Given the description of an element on the screen output the (x, y) to click on. 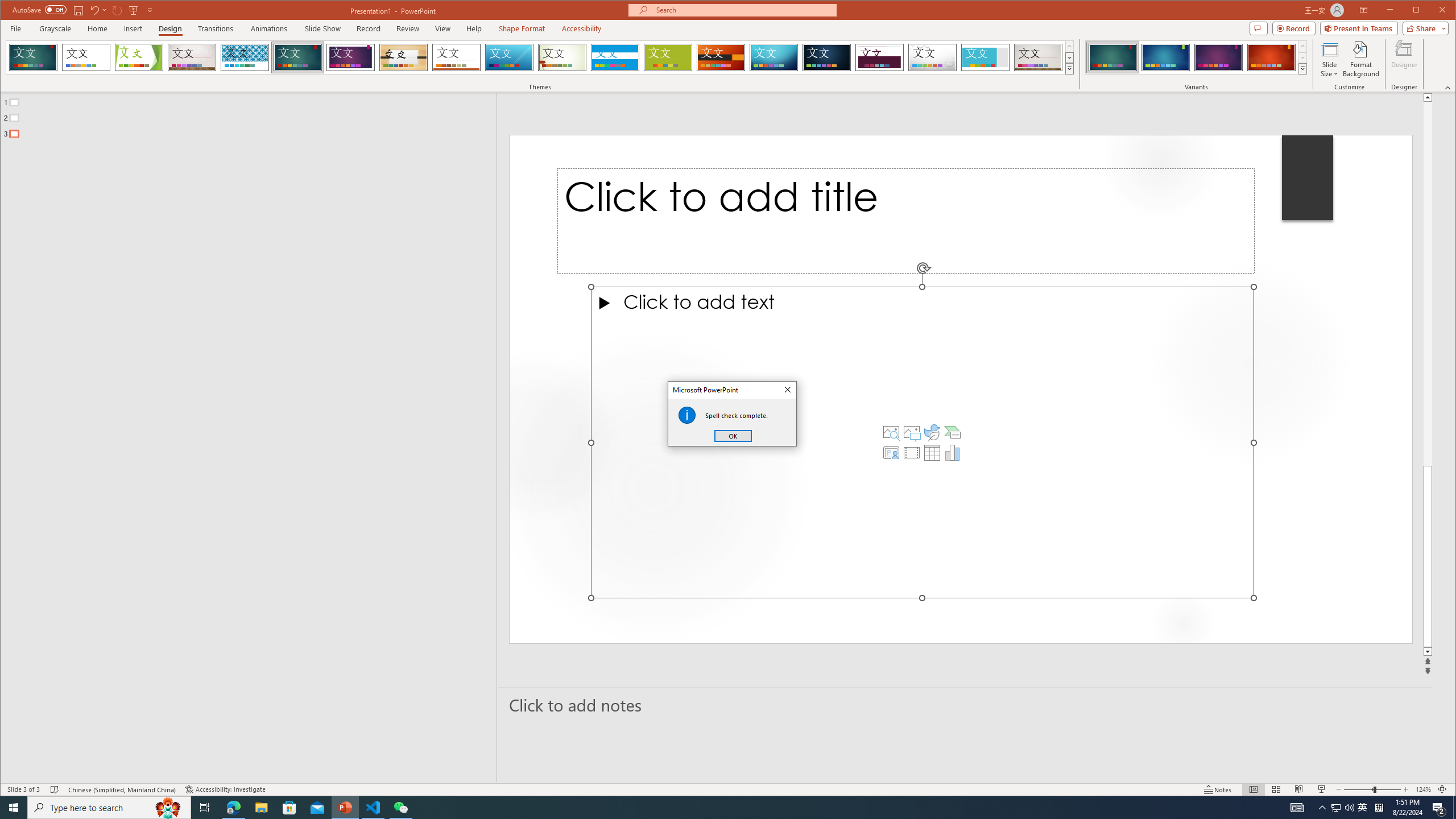
Stock Images (890, 432)
Organic (403, 57)
Ion Variant 1 (1112, 57)
Ion (297, 57)
Droplet (932, 57)
Circuit (773, 57)
Banded (615, 57)
